Given the description of an element on the screen output the (x, y) to click on. 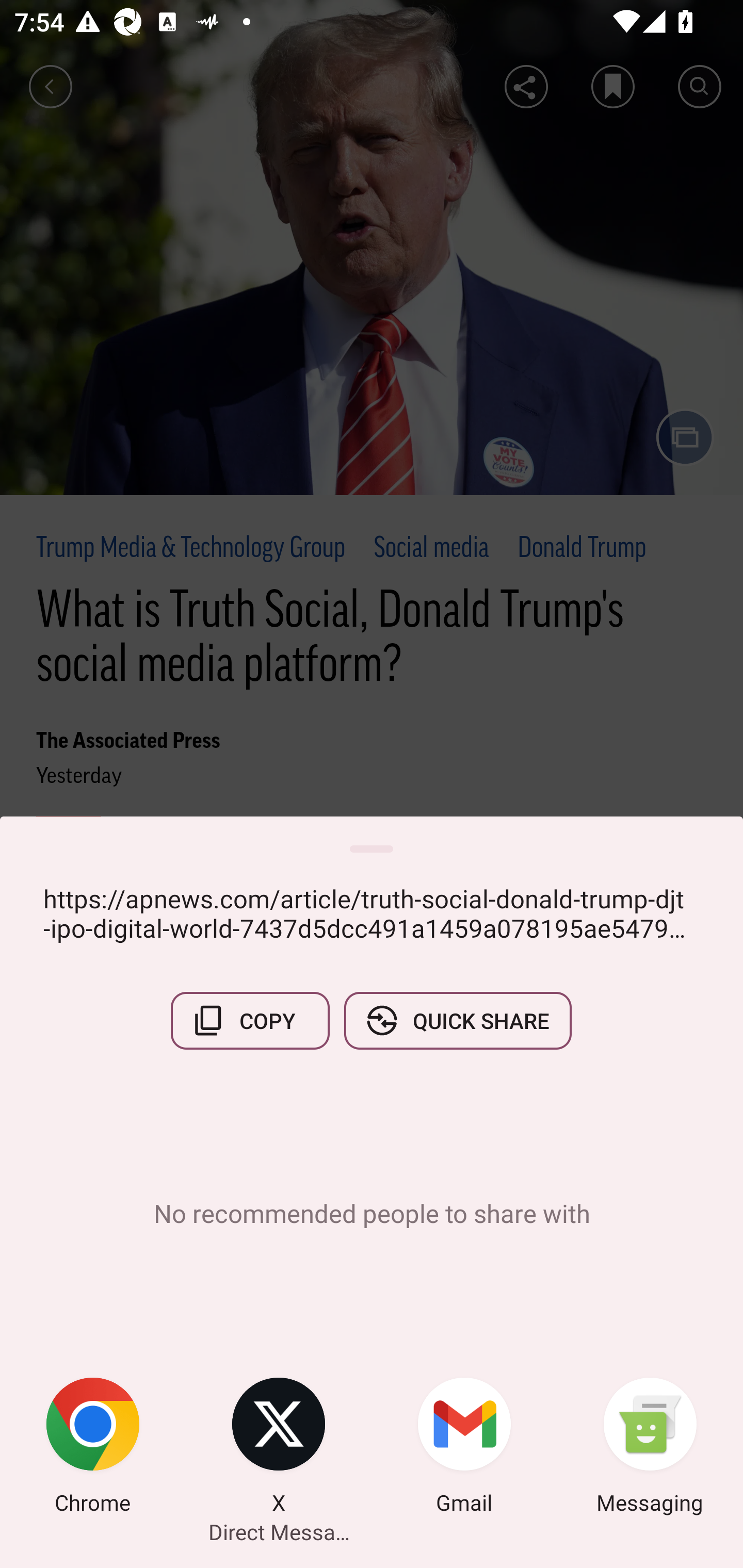
COPY (249, 1020)
QUICK SHARE (457, 1020)
Chrome (92, 1448)
X Direct Message (278, 1448)
Gmail (464, 1448)
Messaging (650, 1448)
